Given the description of an element on the screen output the (x, y) to click on. 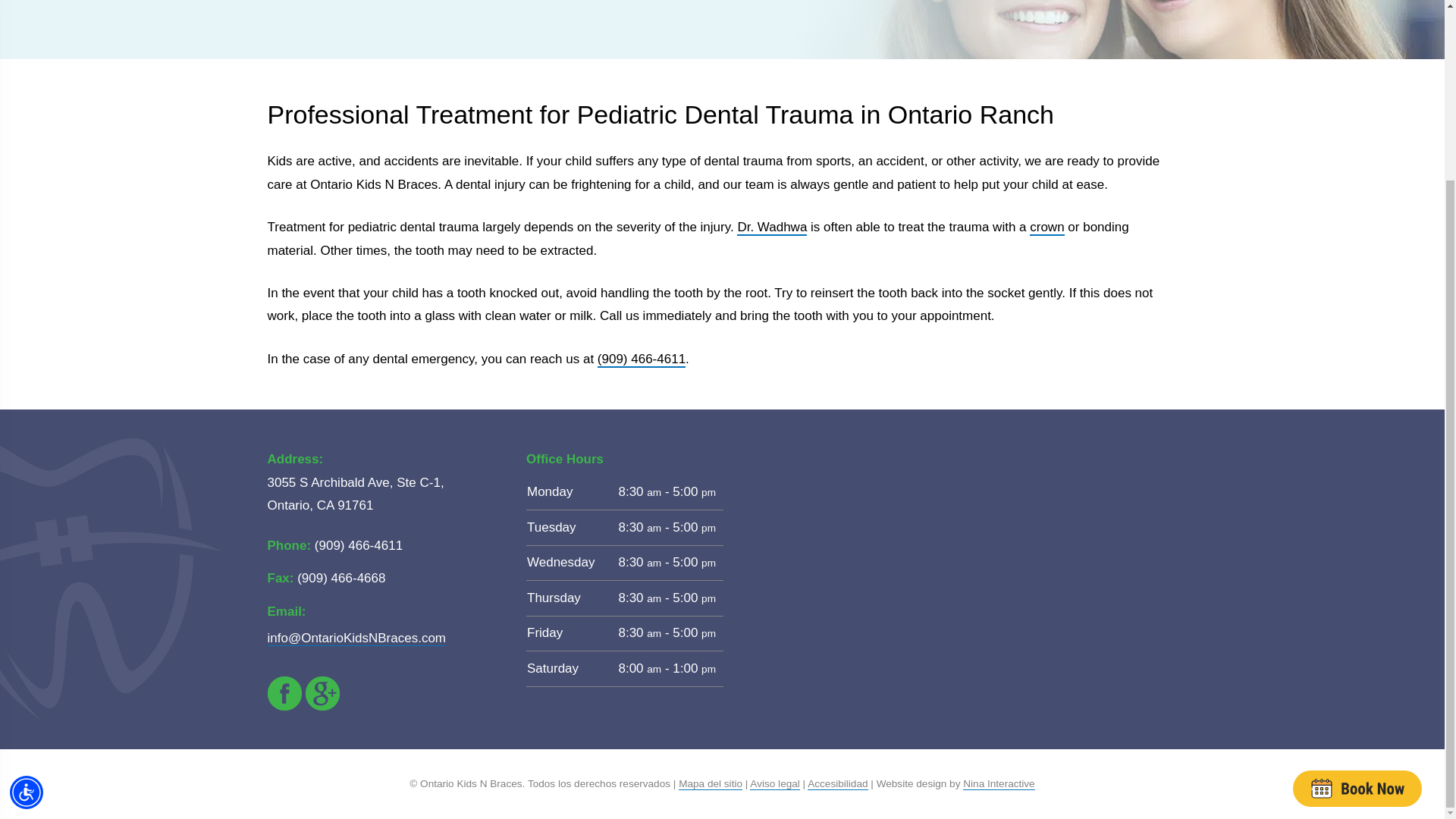
Like us on Google Maps (321, 693)
Schedule appointment (1357, 566)
Like us on Facebook (283, 693)
Accessibility Menu (26, 571)
